Given the description of an element on the screen output the (x, y) to click on. 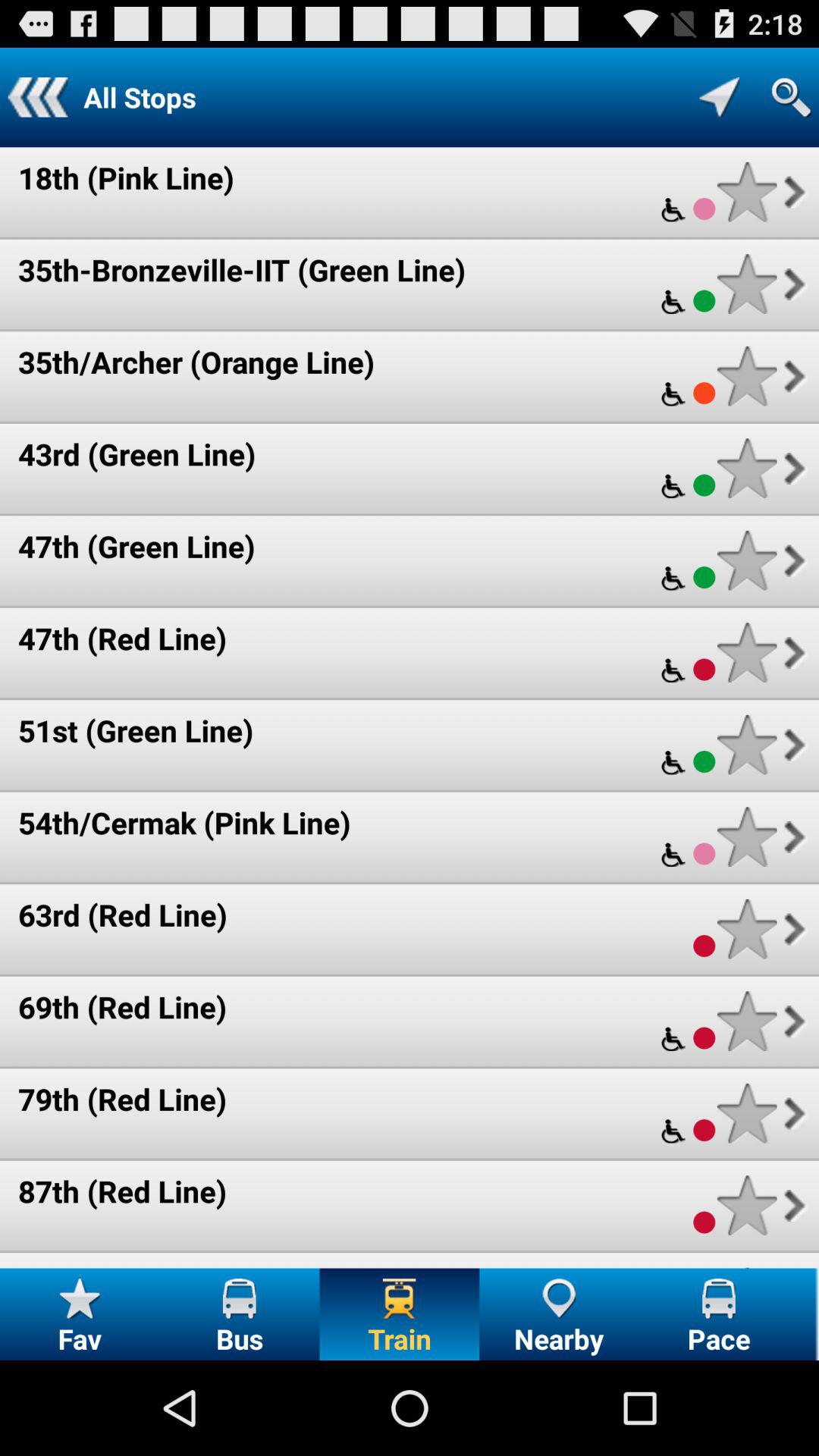
favorite route (746, 652)
